Given the description of an element on the screen output the (x, y) to click on. 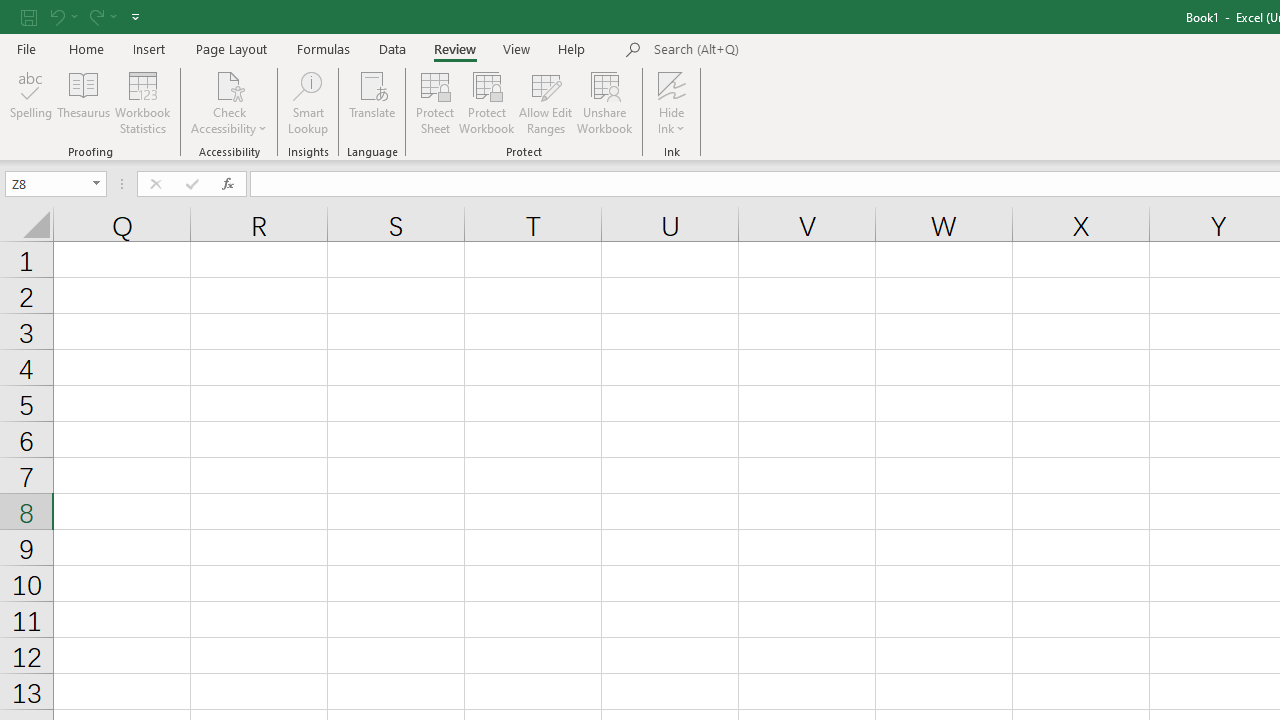
Check Accessibility (229, 84)
Translate (372, 102)
Save (29, 15)
Quick Access Toolbar (82, 16)
System (10, 11)
Workbook Statistics (142, 102)
Protect Sheet... (434, 102)
Insert (149, 48)
View (517, 48)
Hide Ink (671, 84)
Help (572, 48)
Redo (95, 15)
Open (96, 183)
Page Layout (230, 48)
